Given the description of an element on the screen output the (x, y) to click on. 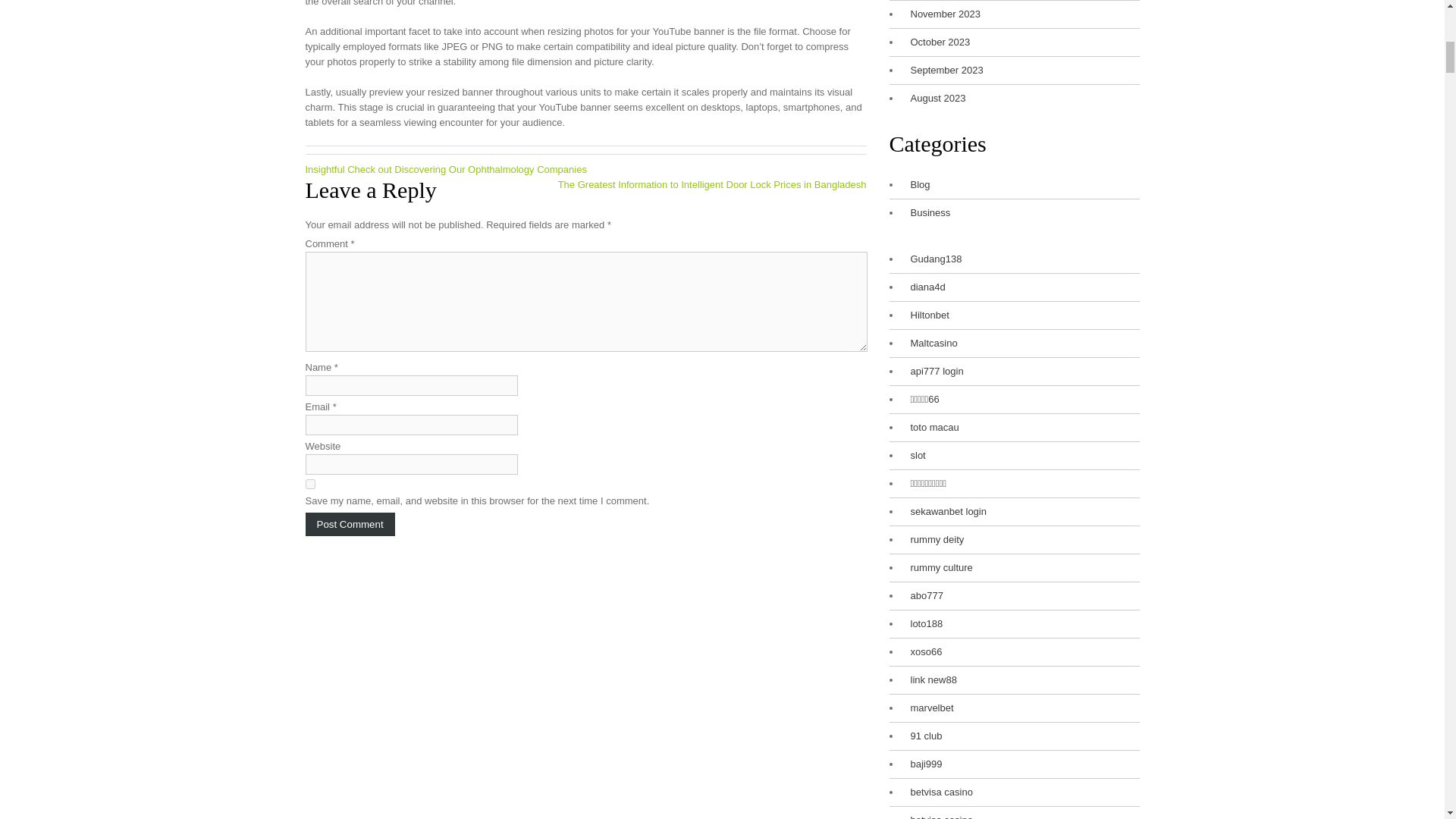
October 2023 (935, 42)
yes (309, 483)
Post Comment (349, 524)
Post Comment (349, 524)
Business (926, 212)
Maltcasino (929, 343)
slot (913, 455)
November 2023 (940, 14)
Insightful Check out Discovering Our Ophthalmology Companies (445, 169)
toto macau (930, 427)
August 2023 (933, 98)
September 2023 (942, 70)
Hiltonbet (925, 314)
Blog (916, 184)
